Given the description of an element on the screen output the (x, y) to click on. 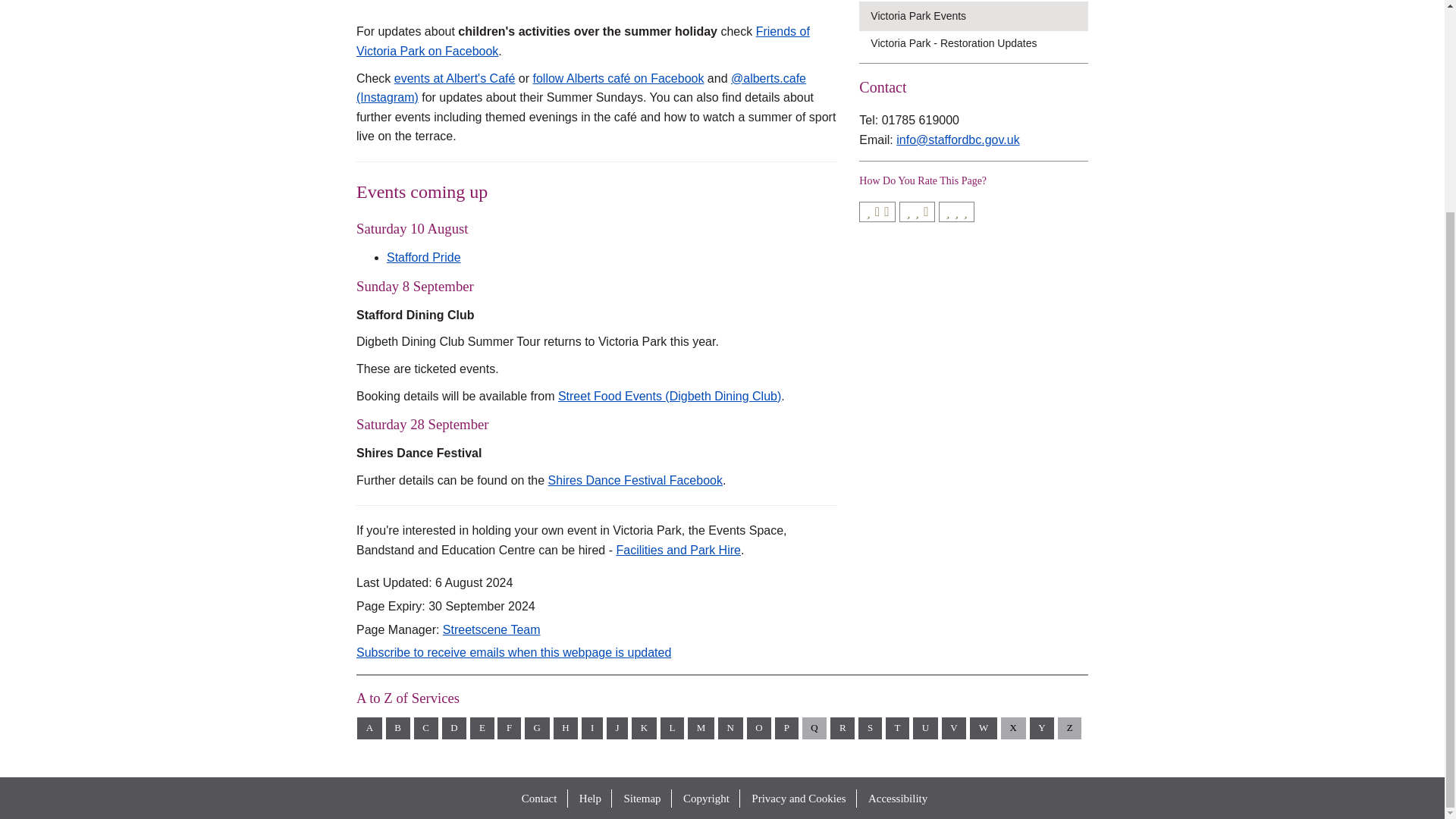
C (425, 728)
Victoria Park Events (978, 15)
B (397, 728)
H (565, 728)
Victoria Park - Restoration Updates (978, 43)
Friends of Victoria Park on Facebook (582, 41)
G (537, 728)
Victoria Park Events (978, 15)
I (591, 728)
Shires Dance Festival Facebook (635, 480)
